Given the description of an element on the screen output the (x, y) to click on. 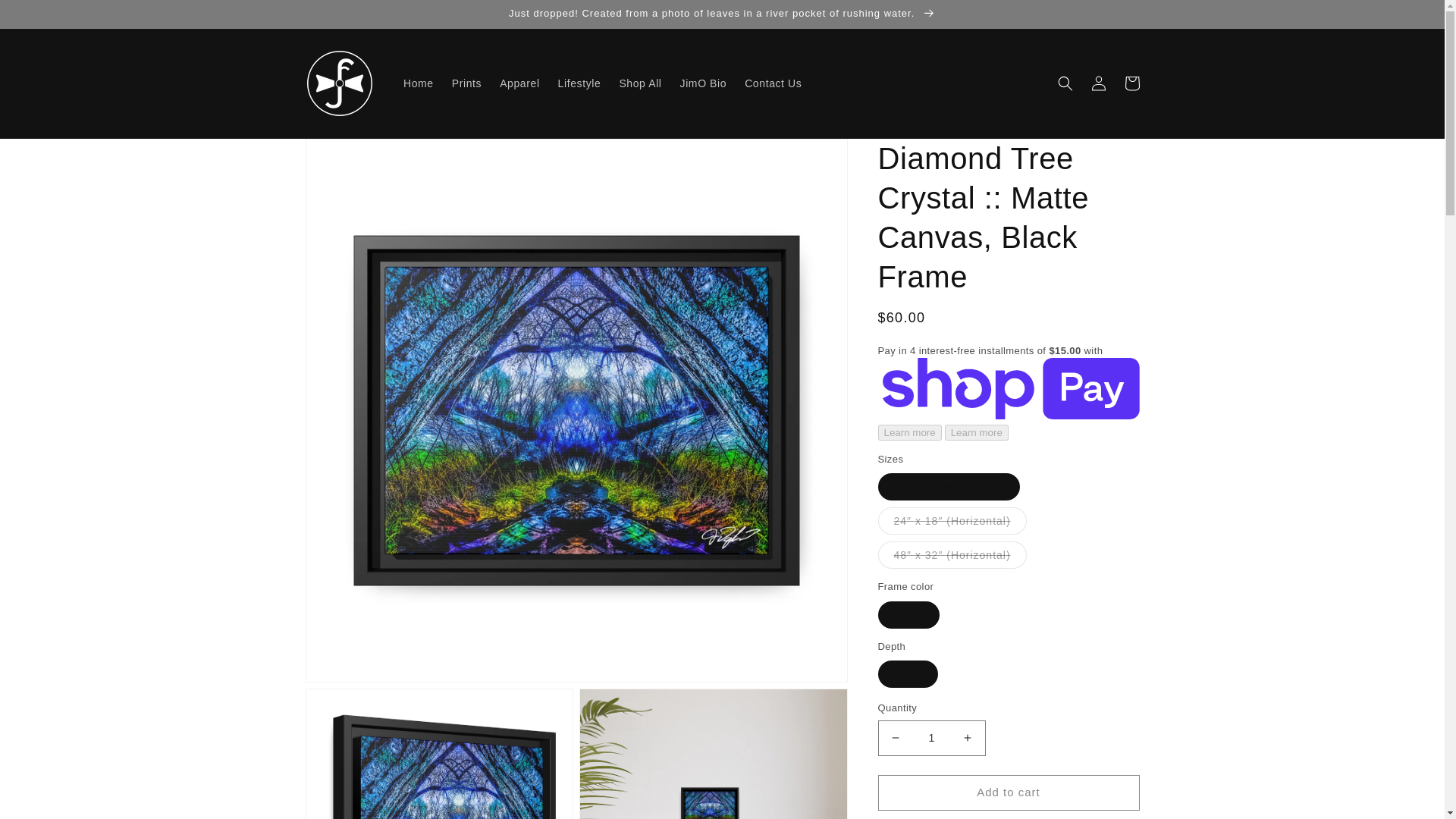
Skip to product information (350, 155)
Contact Us (772, 83)
Home (418, 83)
Log in (1098, 82)
Apparel (519, 83)
1 (931, 737)
Lifestyle (579, 83)
JimO Bio (703, 83)
Skip to content (45, 17)
